Given the description of an element on the screen output the (x, y) to click on. 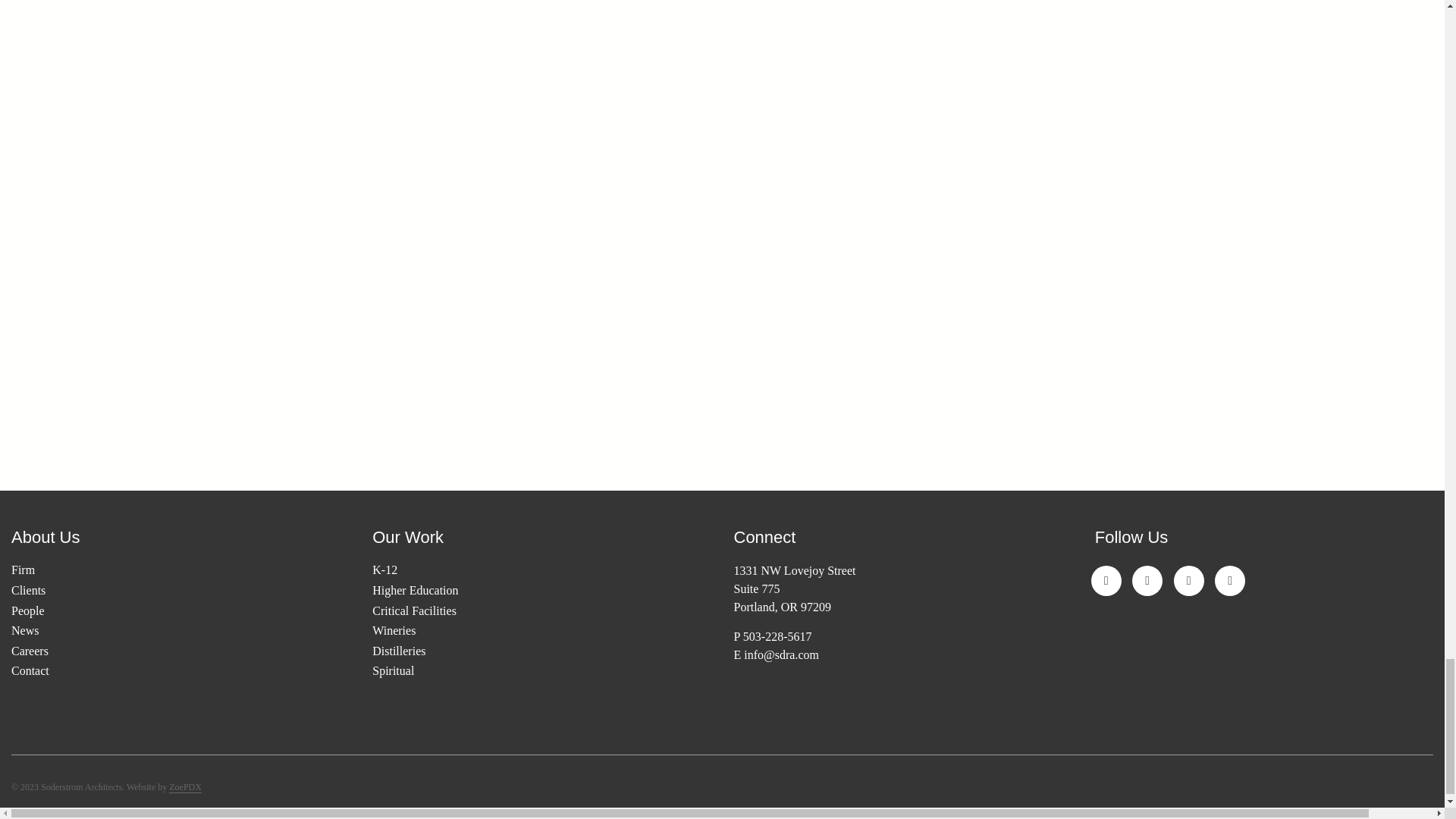
Vimeo (1188, 580)
Instagram (1105, 580)
Facebook (1146, 580)
LinkedIn (1229, 580)
